Given the description of an element on the screen output the (x, y) to click on. 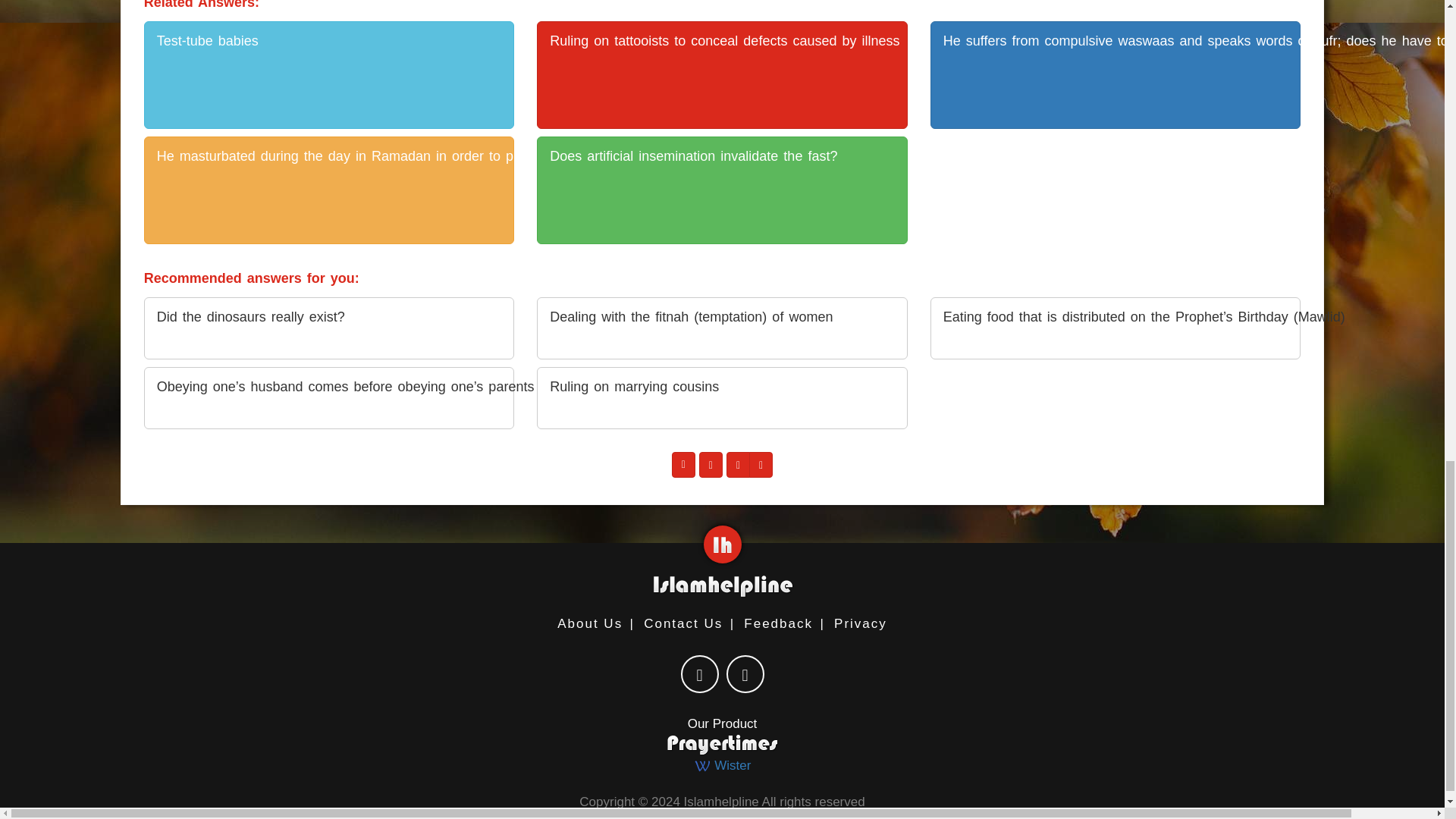
Did the dinosaurs really exist? (328, 328)
Test-tube babies (328, 74)
Ruling on marrying cousins (722, 397)
Does artificial insemination invalidate the fast? (722, 190)
Ruling on tattooists to conceal defects caused by illness (722, 74)
